Given the description of an element on the screen output the (x, y) to click on. 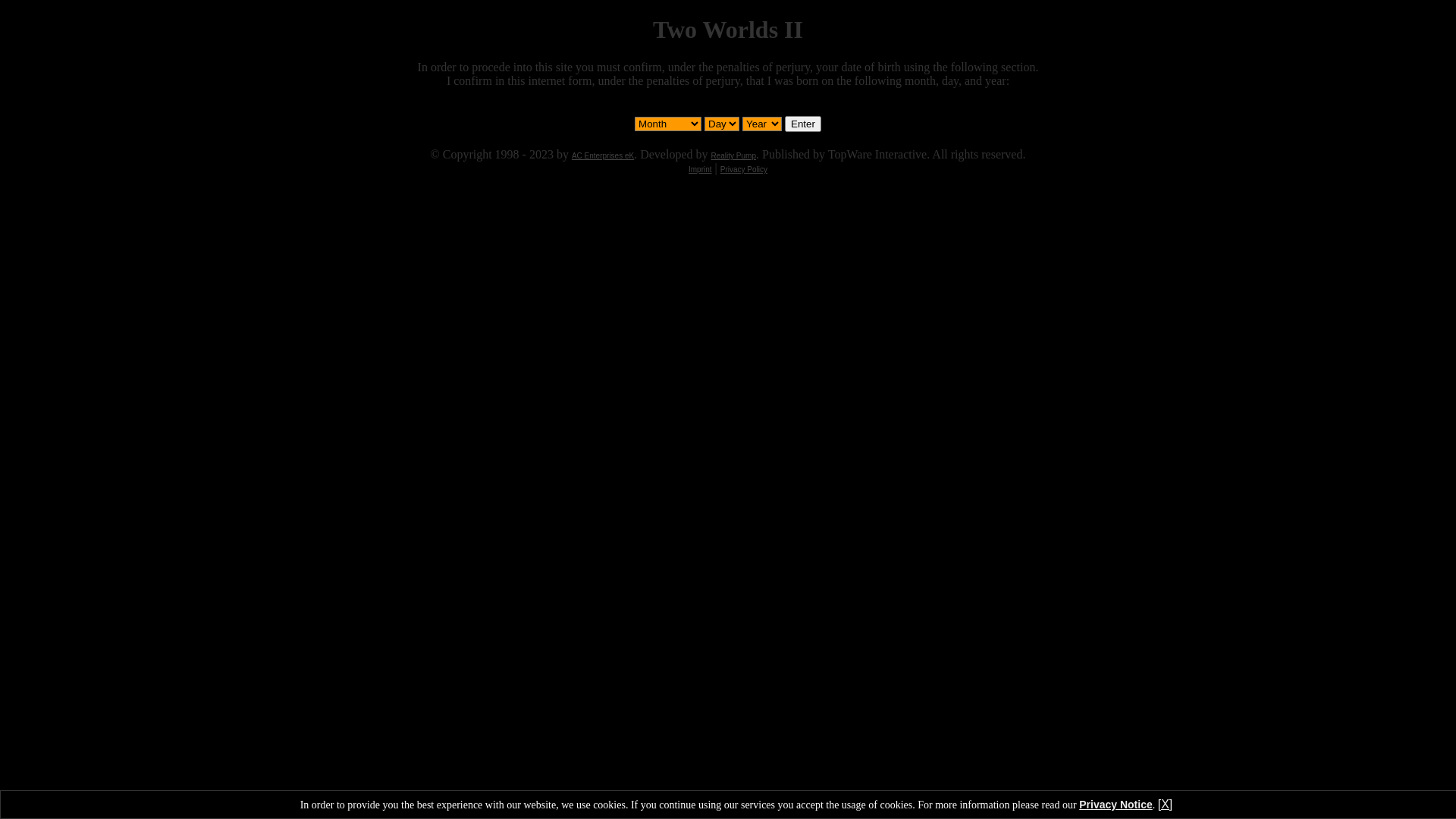
AC Enterprises eK Element type: text (602, 155)
Privacy Policy Element type: text (743, 169)
Reality Pump Element type: text (733, 155)
Imprint Element type: text (700, 169)
[X] Element type: text (1165, 803)
Privacy Notice Element type: text (1115, 804)
Enter Element type: text (802, 123)
